Given the description of an element on the screen output the (x, y) to click on. 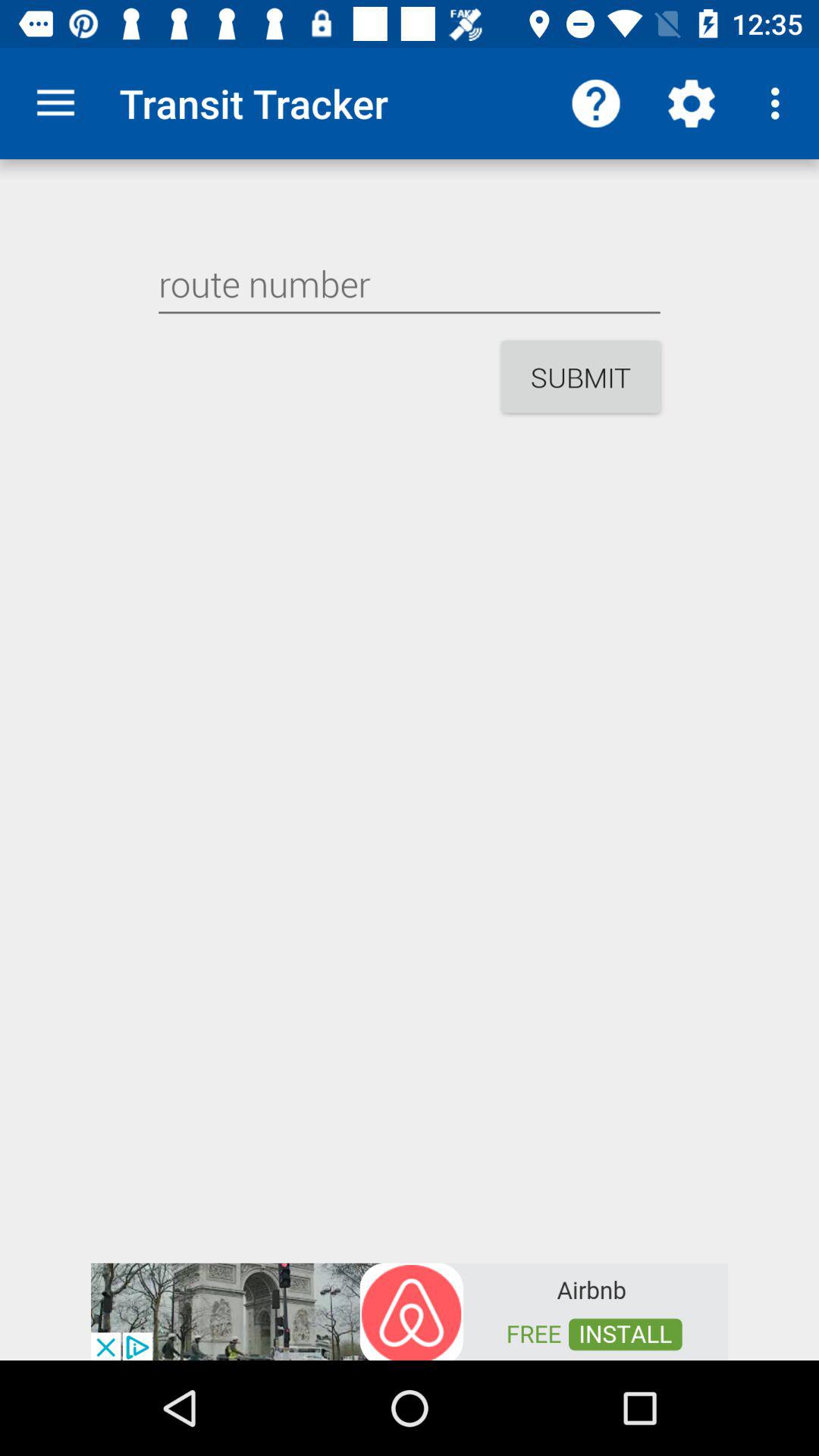
enter number (409, 284)
